Given the description of an element on the screen output the (x, y) to click on. 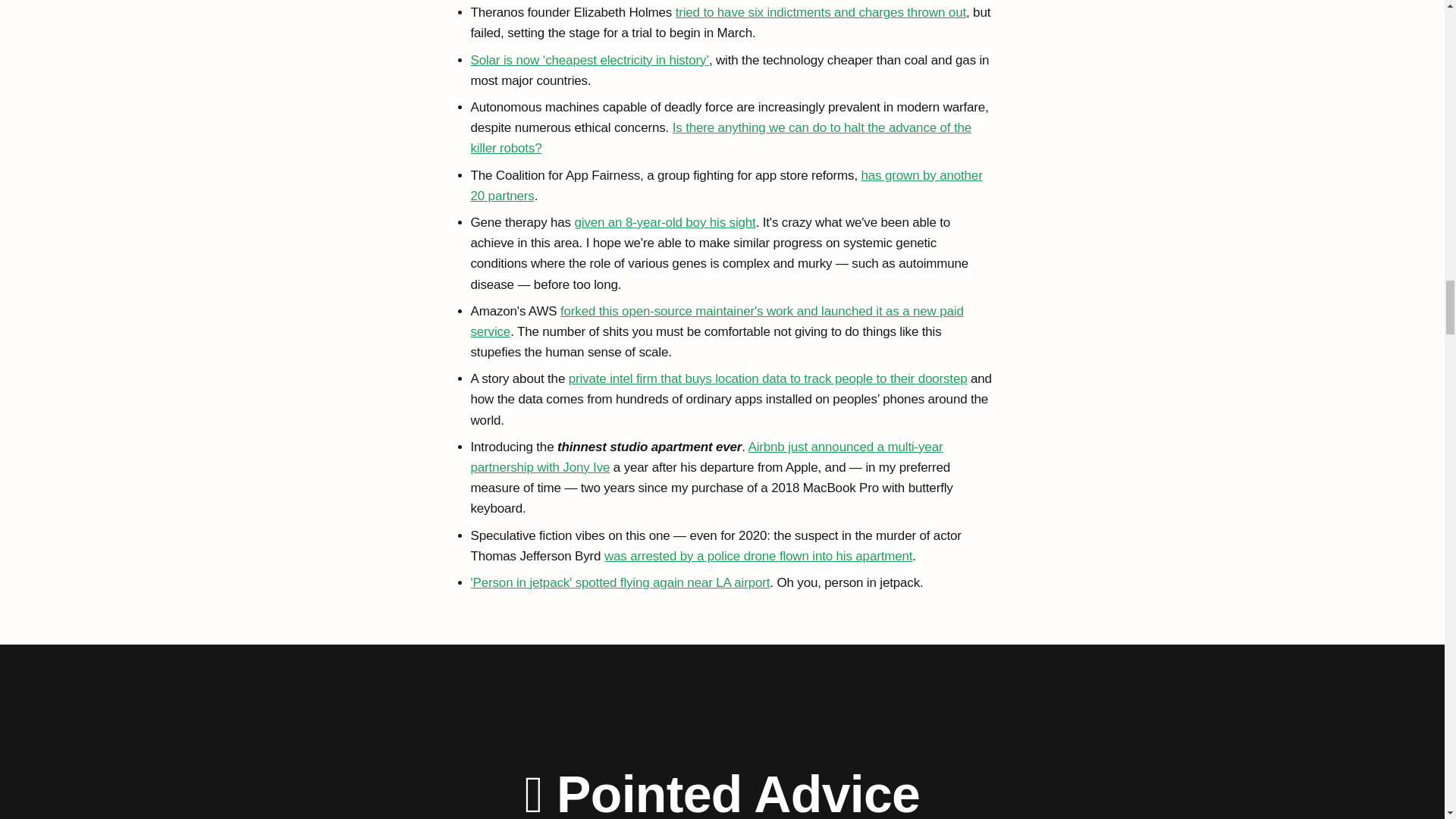
has grown by another 20 partners (725, 185)
tried to have six indictments and charges thrown out (820, 11)
